Given the description of an element on the screen output the (x, y) to click on. 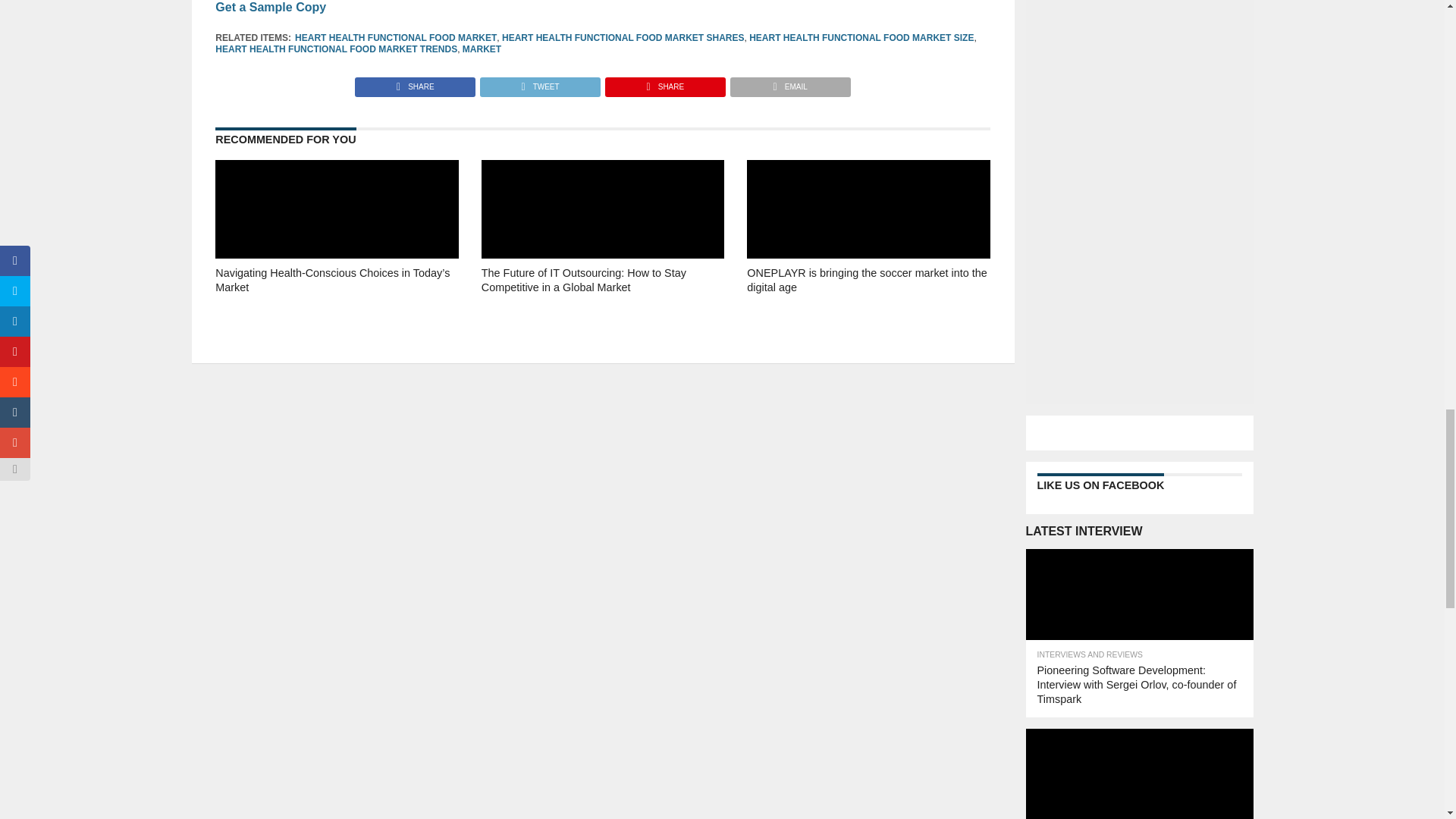
Tweet This Post (539, 82)
Share on Facebook (415, 82)
Pin This Post (664, 82)
ONEPLAYR is bringing the soccer market into the digital age (868, 301)
